Given the description of an element on the screen output the (x, y) to click on. 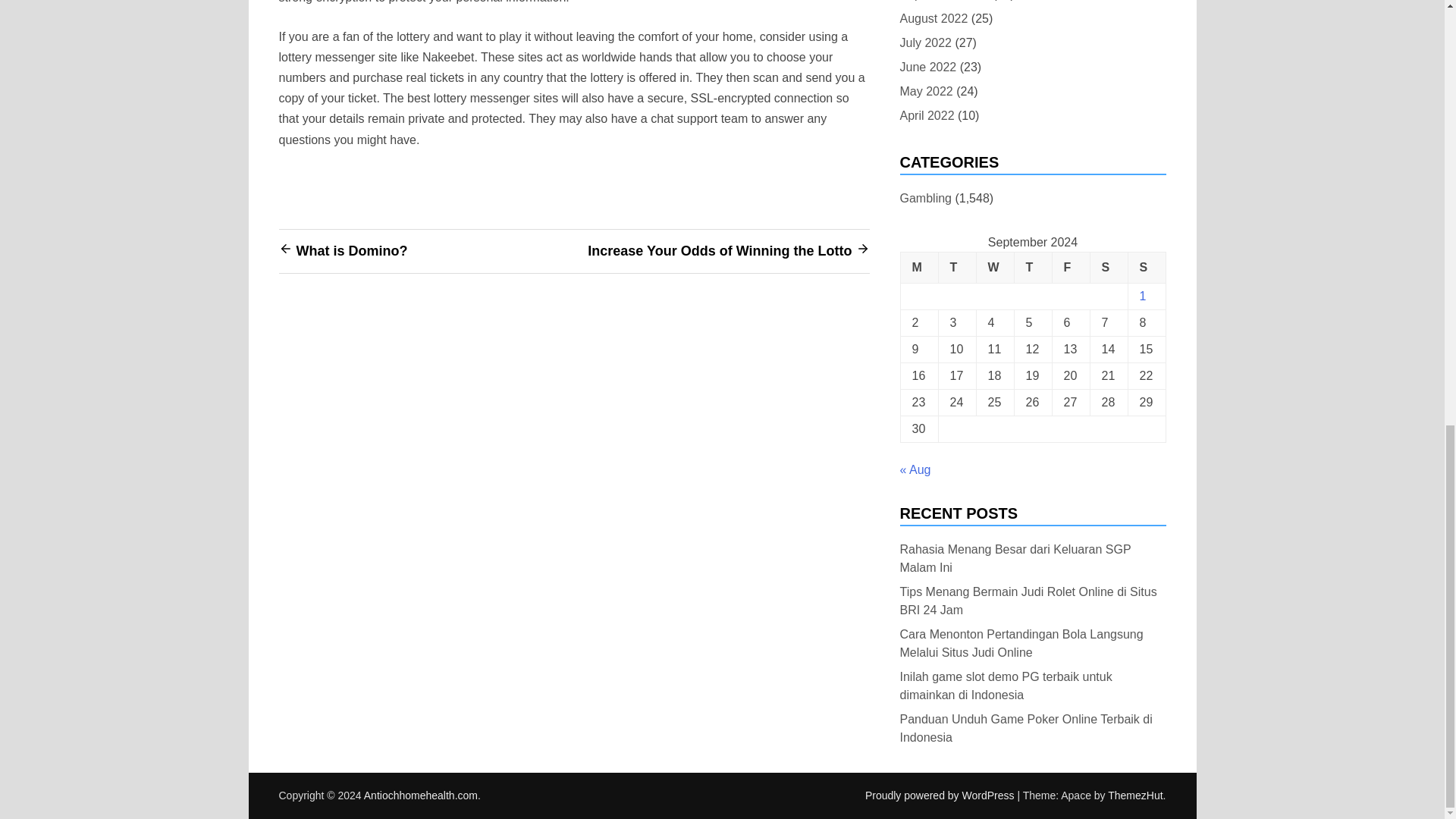
June 2022 (927, 66)
Friday (1070, 267)
August 2022 (933, 18)
Saturday (1107, 267)
Tuesday (956, 267)
September 2022 (943, 2)
Wednesday (994, 267)
What is Domino? (351, 250)
Thursday (1032, 267)
Antiochhomehealth.com (420, 795)
